Given the description of an element on the screen output the (x, y) to click on. 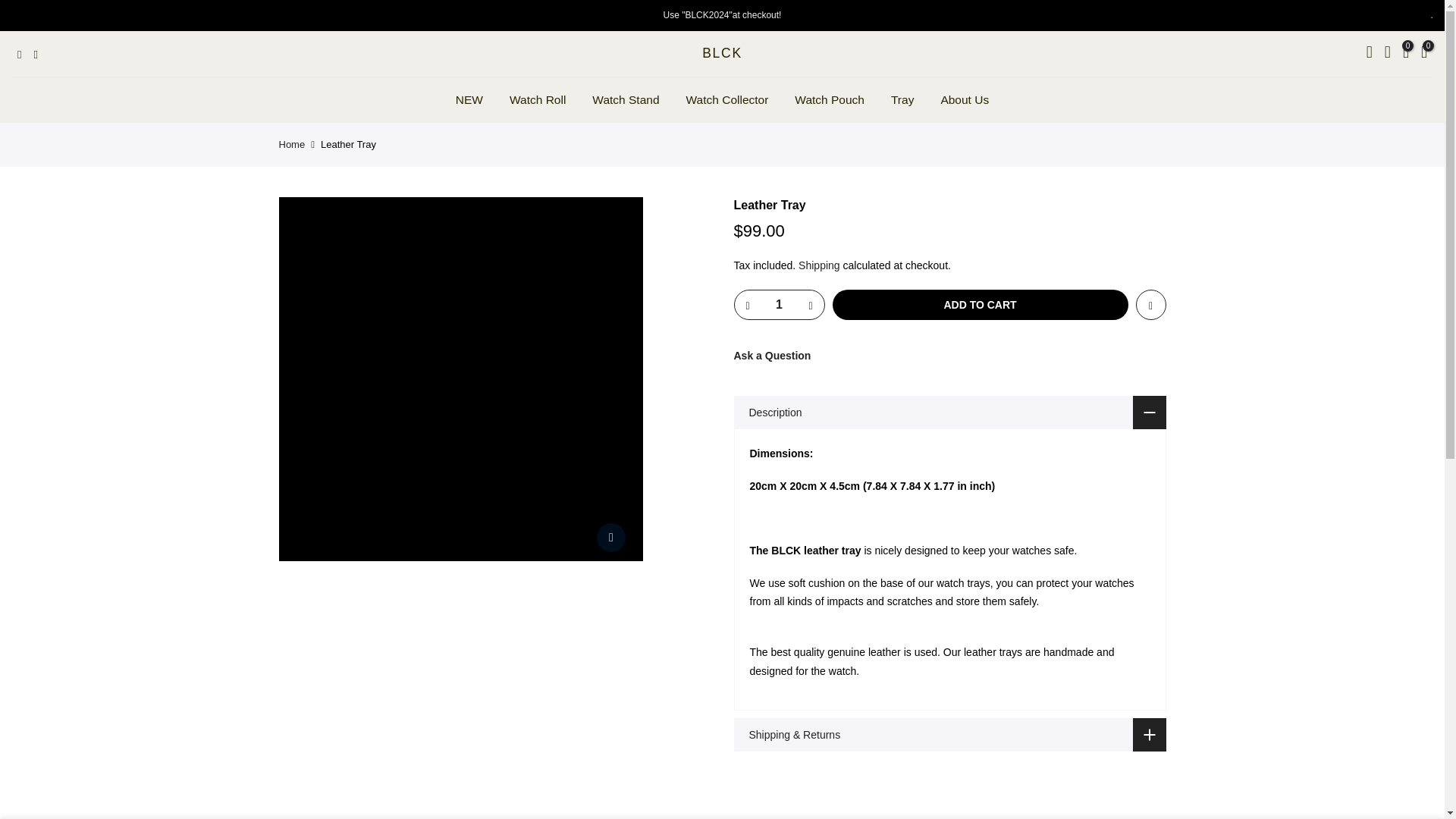
0 (1405, 53)
Watch Pouch (829, 99)
Tray (901, 99)
Shipping (818, 265)
1 (778, 304)
Home (292, 144)
Watch Collector (726, 99)
Ask a Question (771, 355)
Watch Stand (625, 99)
About Us (965, 99)
NEW (469, 99)
BLCK (721, 53)
ADD TO CART (980, 304)
Description (949, 412)
Watch Roll (537, 99)
